Given the description of an element on the screen output the (x, y) to click on. 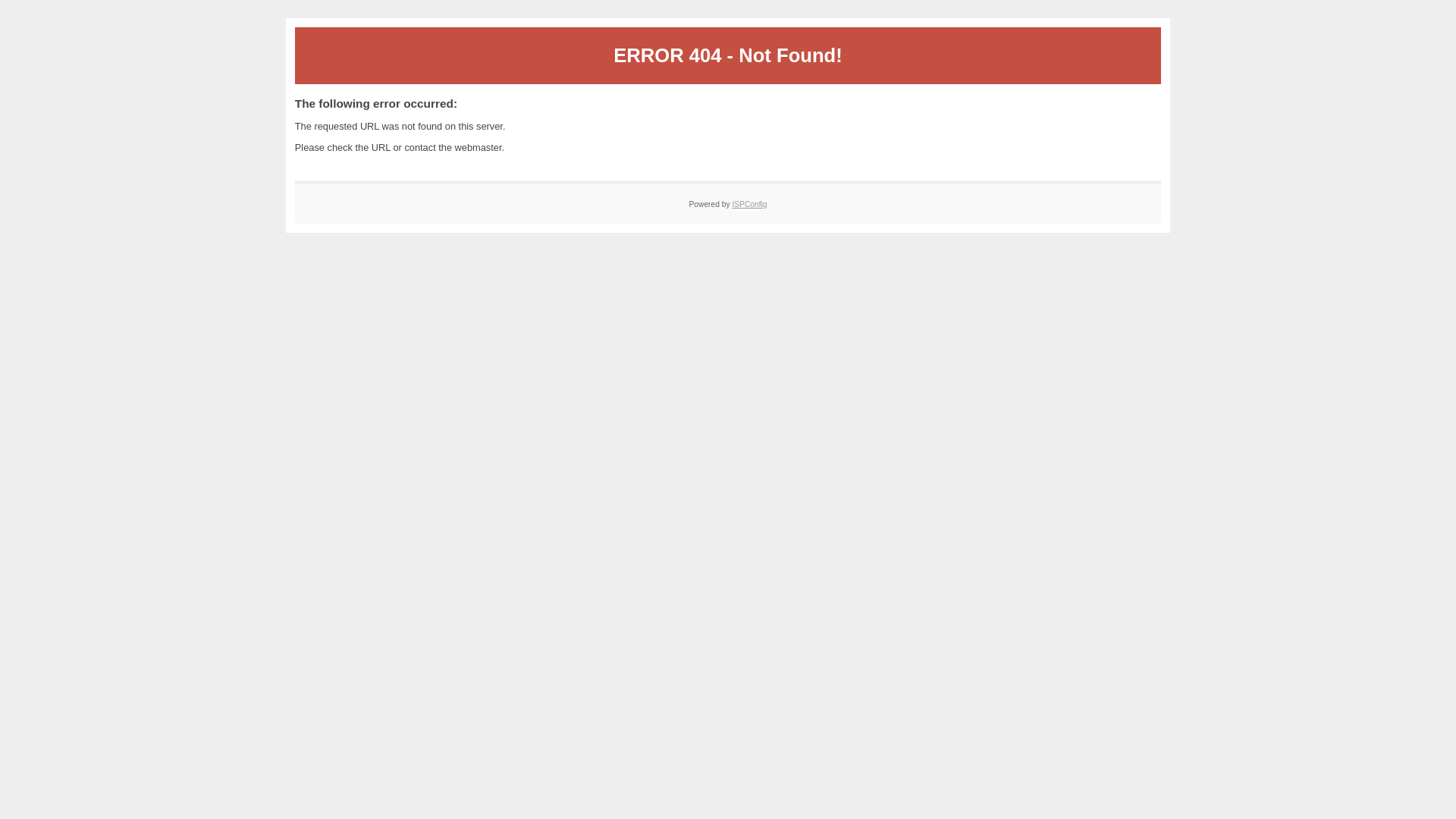
ISPConfig Element type: text (748, 204)
